Given the description of an element on the screen output the (x, y) to click on. 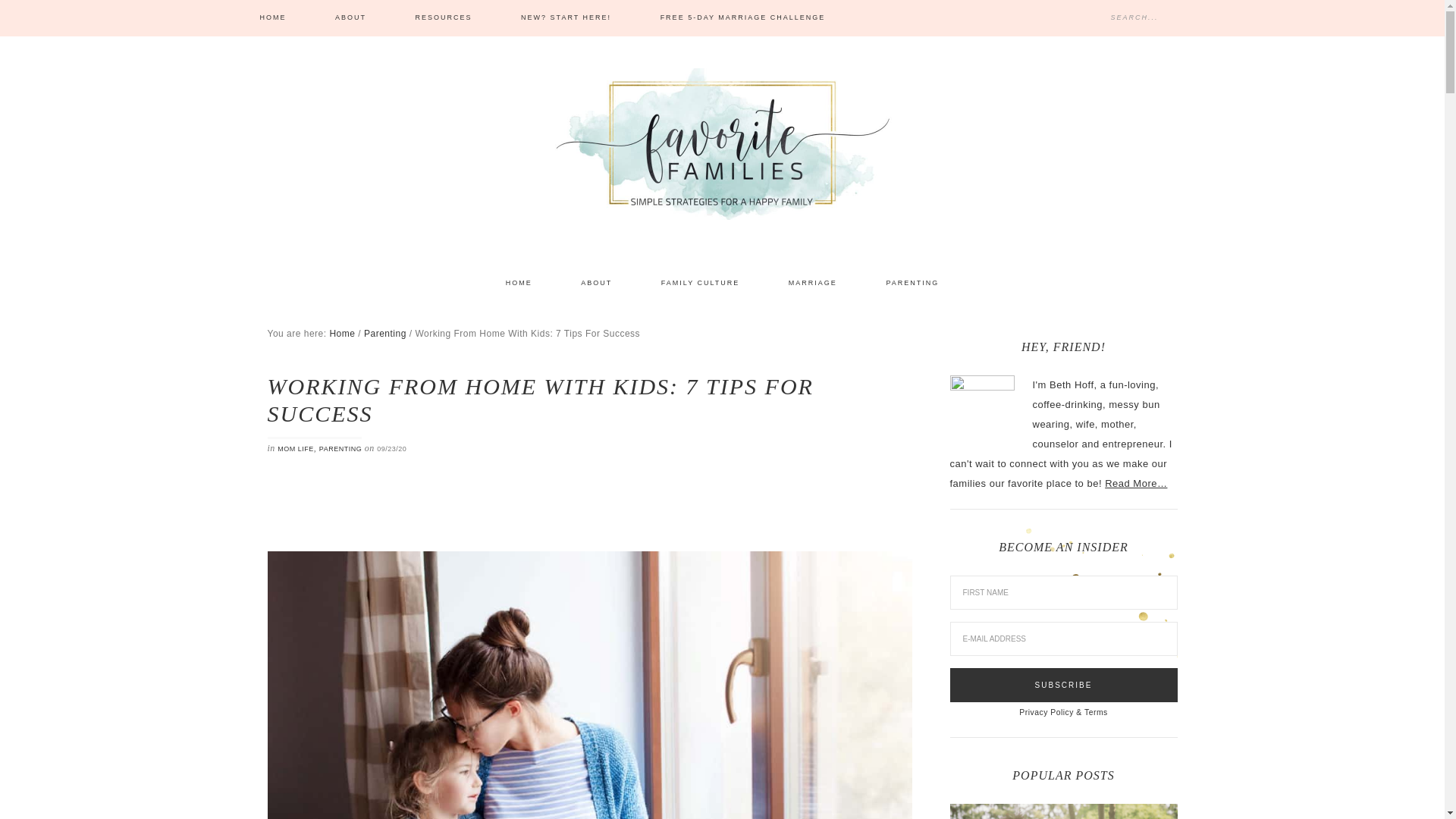
Subscribe (1062, 684)
ABOUT (350, 18)
NEW? START HERE! (565, 18)
Home (342, 332)
PARENTING (911, 283)
ABOUT (595, 283)
Subscribe (1062, 684)
PARENTING (339, 448)
MARRIAGE (812, 283)
FREE 5-DAY MARRIAGE CHALLENGE (742, 18)
RESOURCES (444, 18)
HOME (271, 18)
